Given the description of an element on the screen output the (x, y) to click on. 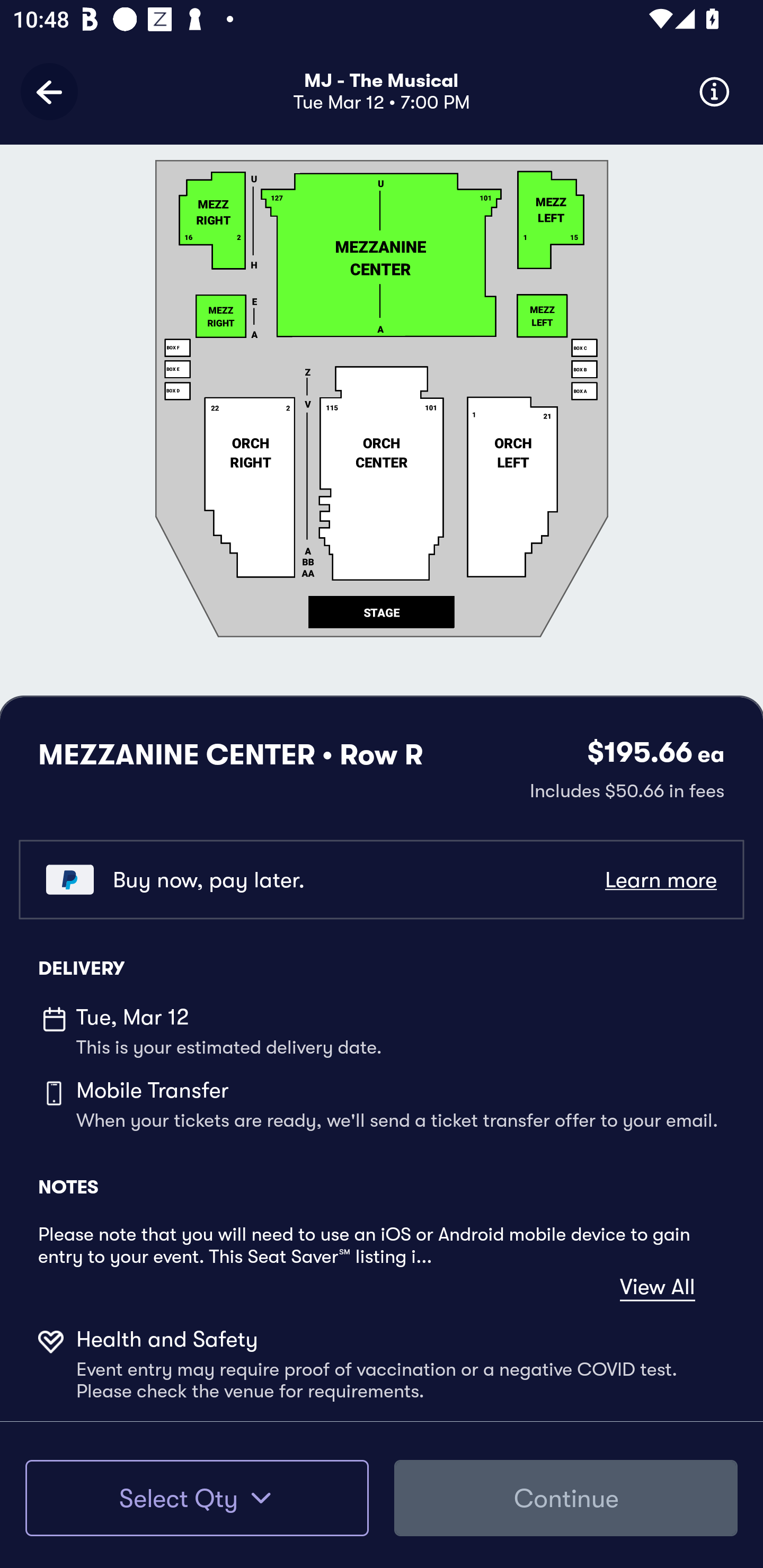
Learn more (660, 880)
View All (657, 1287)
Select Qty (196, 1497)
Continue (565, 1497)
